Given the description of an element on the screen output the (x, y) to click on. 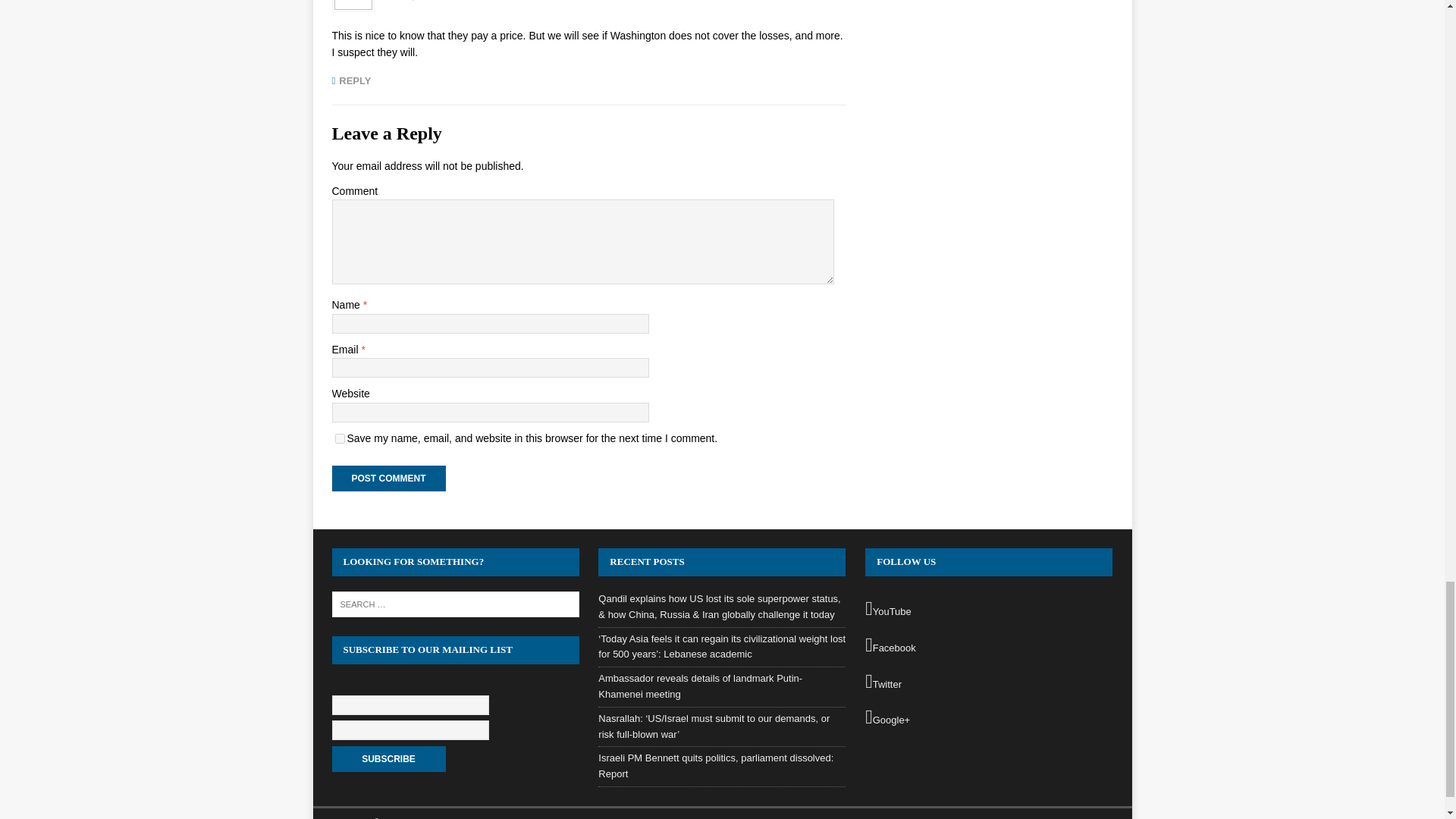
Visit Middle East Observer on Twitter (988, 681)
Post Comment (388, 478)
Visit Middle East Observer on YouTube (988, 608)
REPLY (351, 80)
yes (339, 438)
Post Comment (388, 478)
Visit Middle East Observer on Facebook (988, 645)
Subscribe (388, 759)
